Given the description of an element on the screen output the (x, y) to click on. 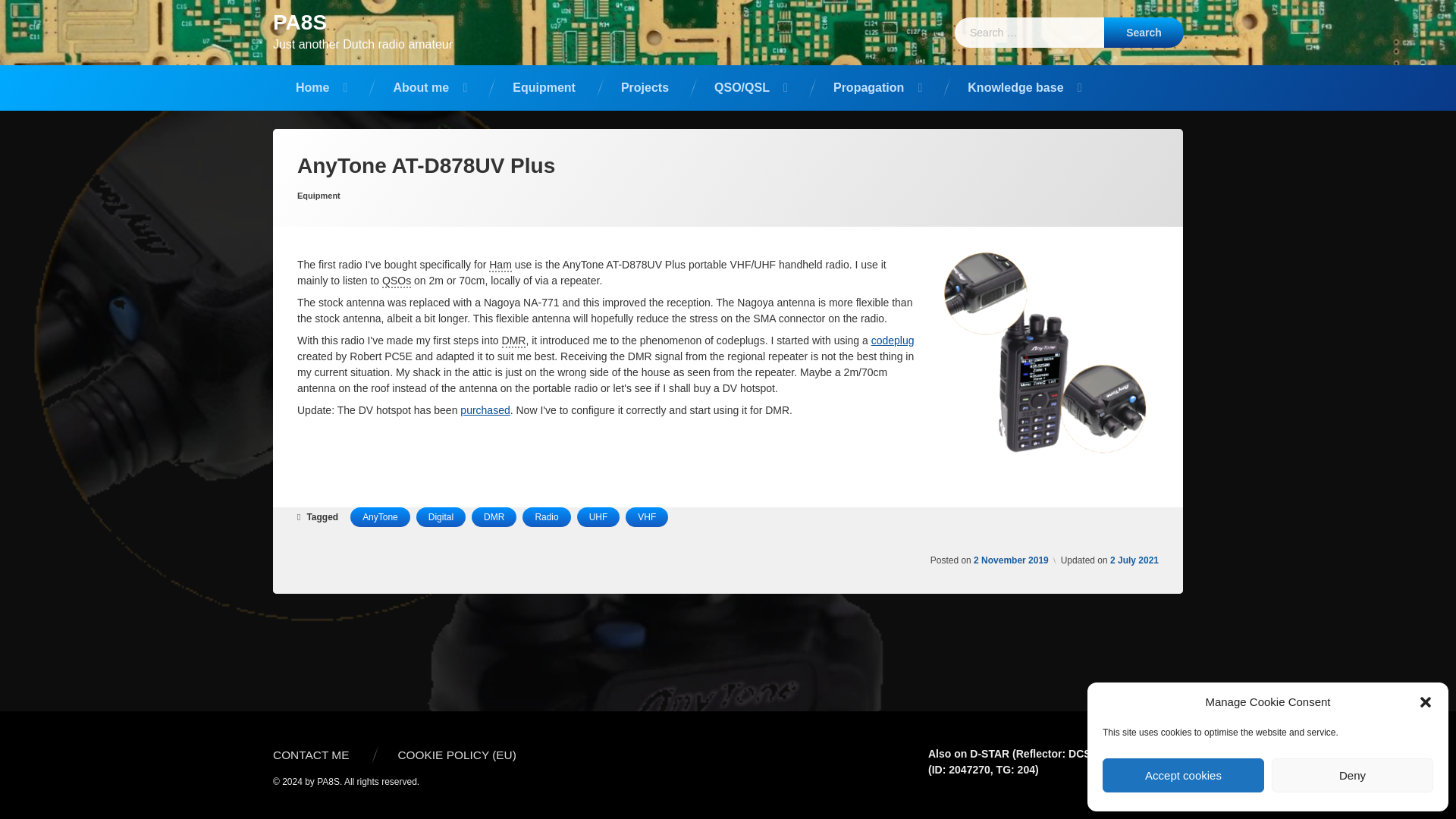
About me (429, 87)
Home (321, 87)
Knowledge base (1024, 87)
Search (1143, 32)
Accept cookies (1182, 775)
Search (1143, 32)
Projects (644, 87)
Equipment (544, 87)
Propagation (877, 87)
Search (1143, 32)
Deny (1351, 775)
